Given the description of an element on the screen output the (x, y) to click on. 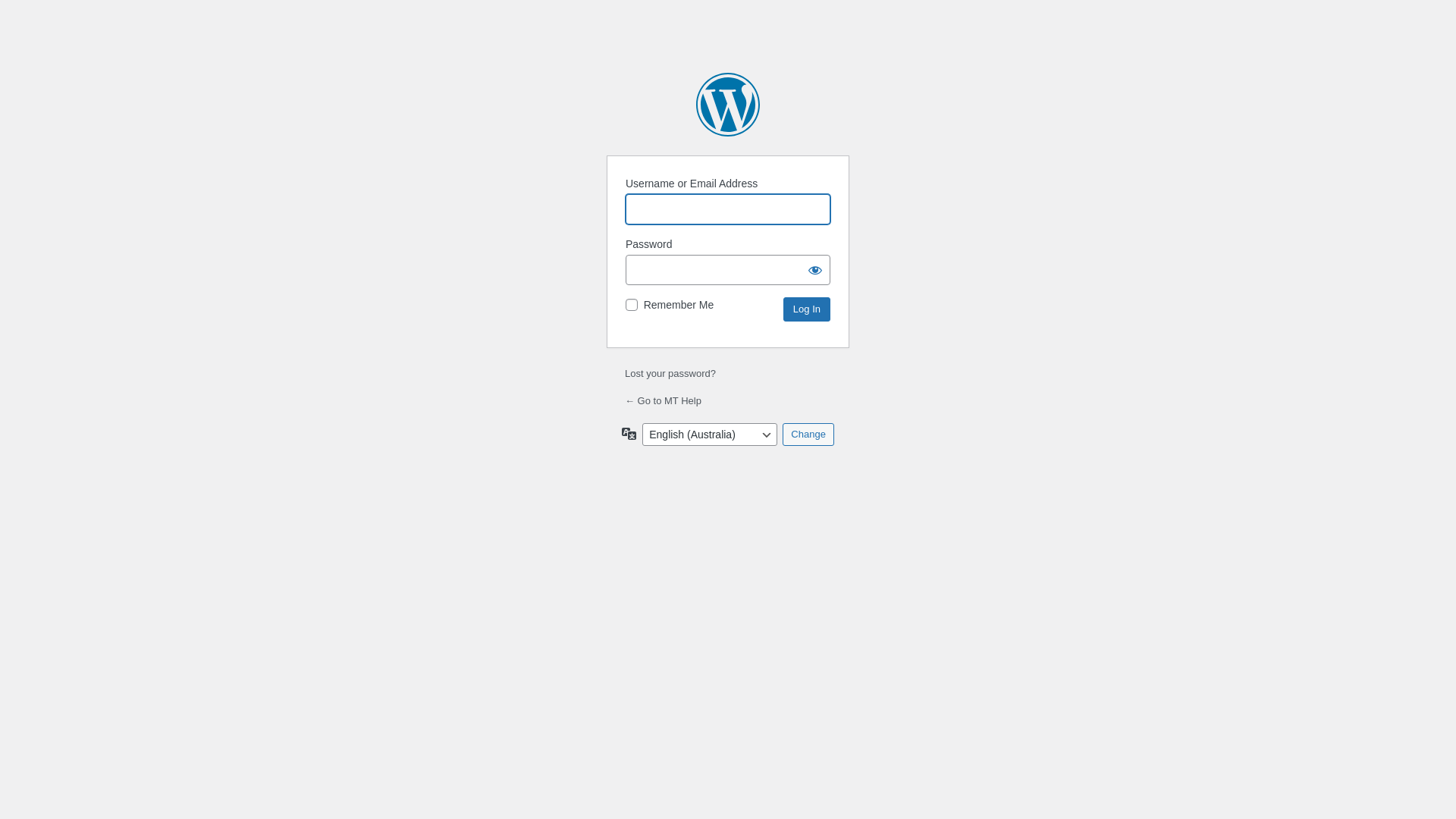
Lost your password? Element type: text (669, 373)
Log In Element type: text (806, 309)
Powered by WordPress Element type: text (727, 104)
Change Element type: text (808, 434)
